Given the description of an element on the screen output the (x, y) to click on. 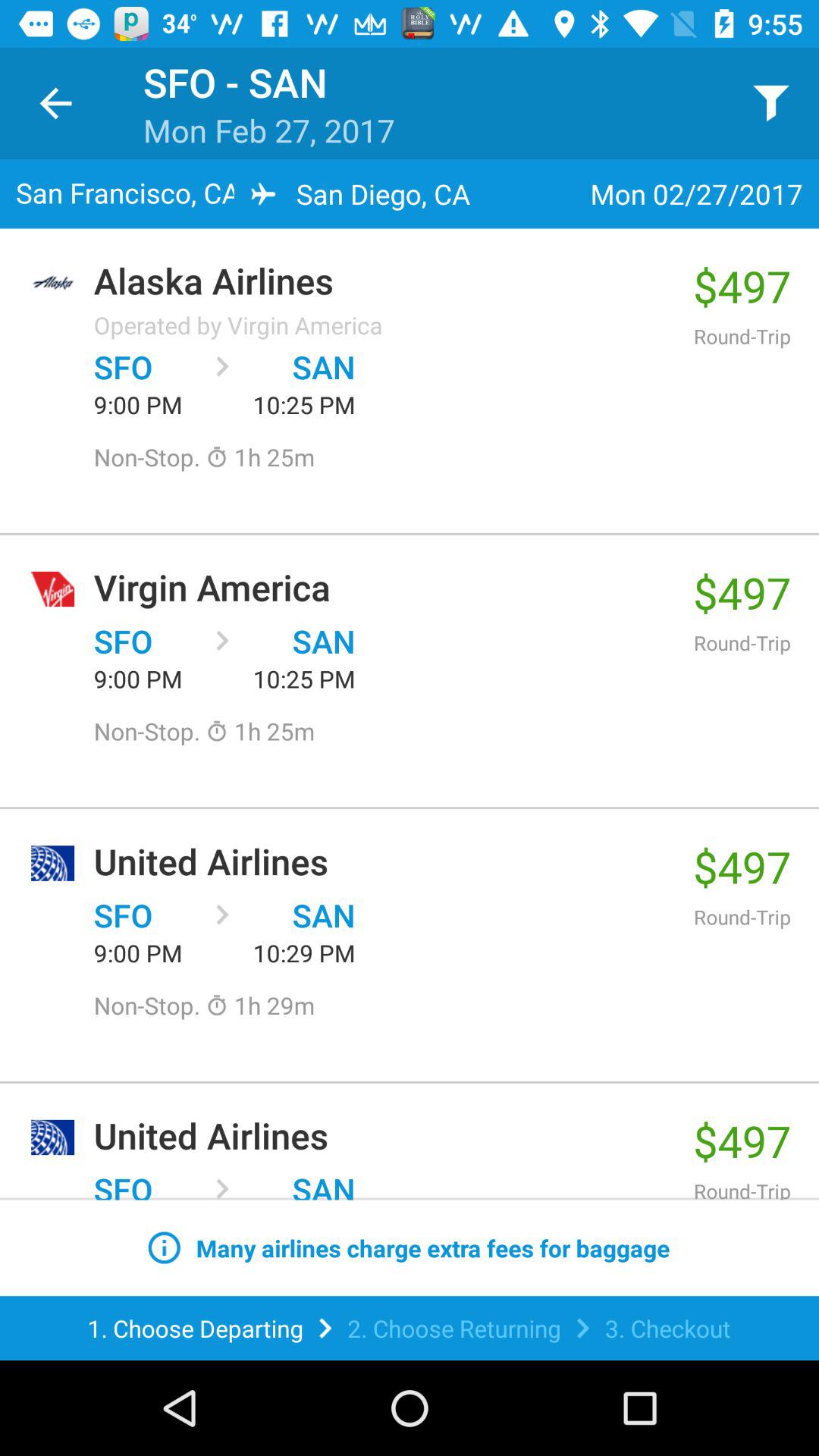
turn off the item above sfo item (237, 324)
